Given the description of an element on the screen output the (x, y) to click on. 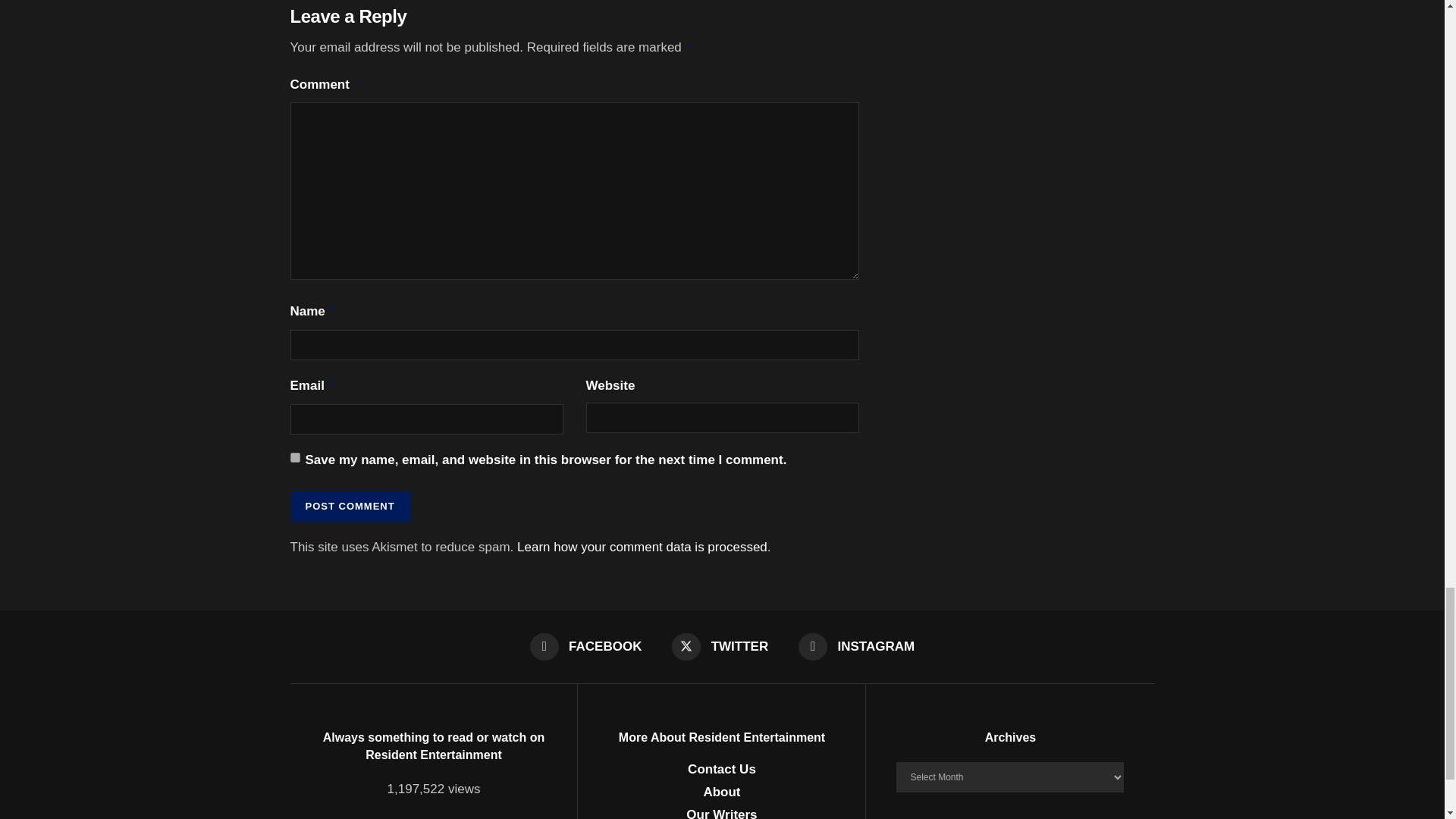
Post Comment (349, 506)
yes (294, 457)
